Given the description of an element on the screen output the (x, y) to click on. 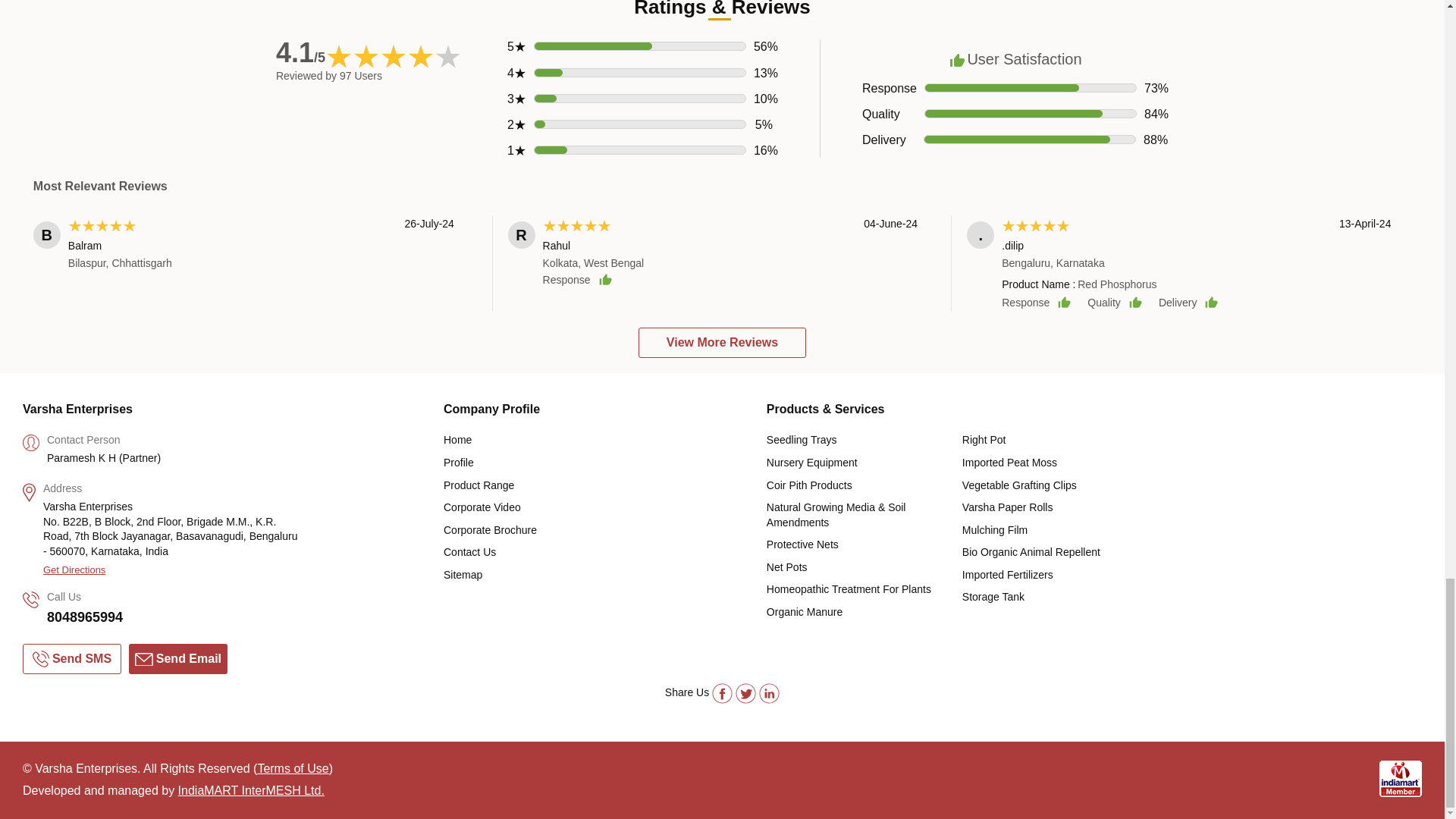
4.1 out of 5 Votes (300, 51)
